Given the description of an element on the screen output the (x, y) to click on. 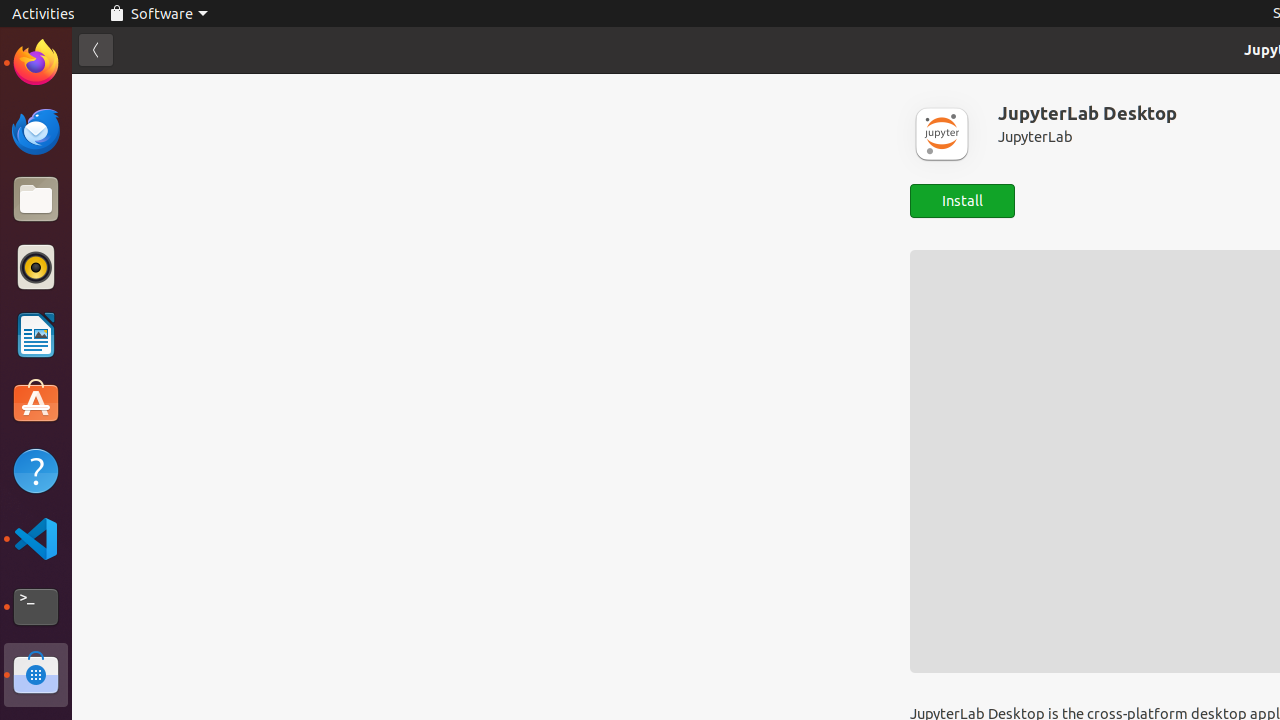
luyi1 Element type: label (133, 89)
Terminal Element type: push-button (36, 607)
